Given the description of an element on the screen output the (x, y) to click on. 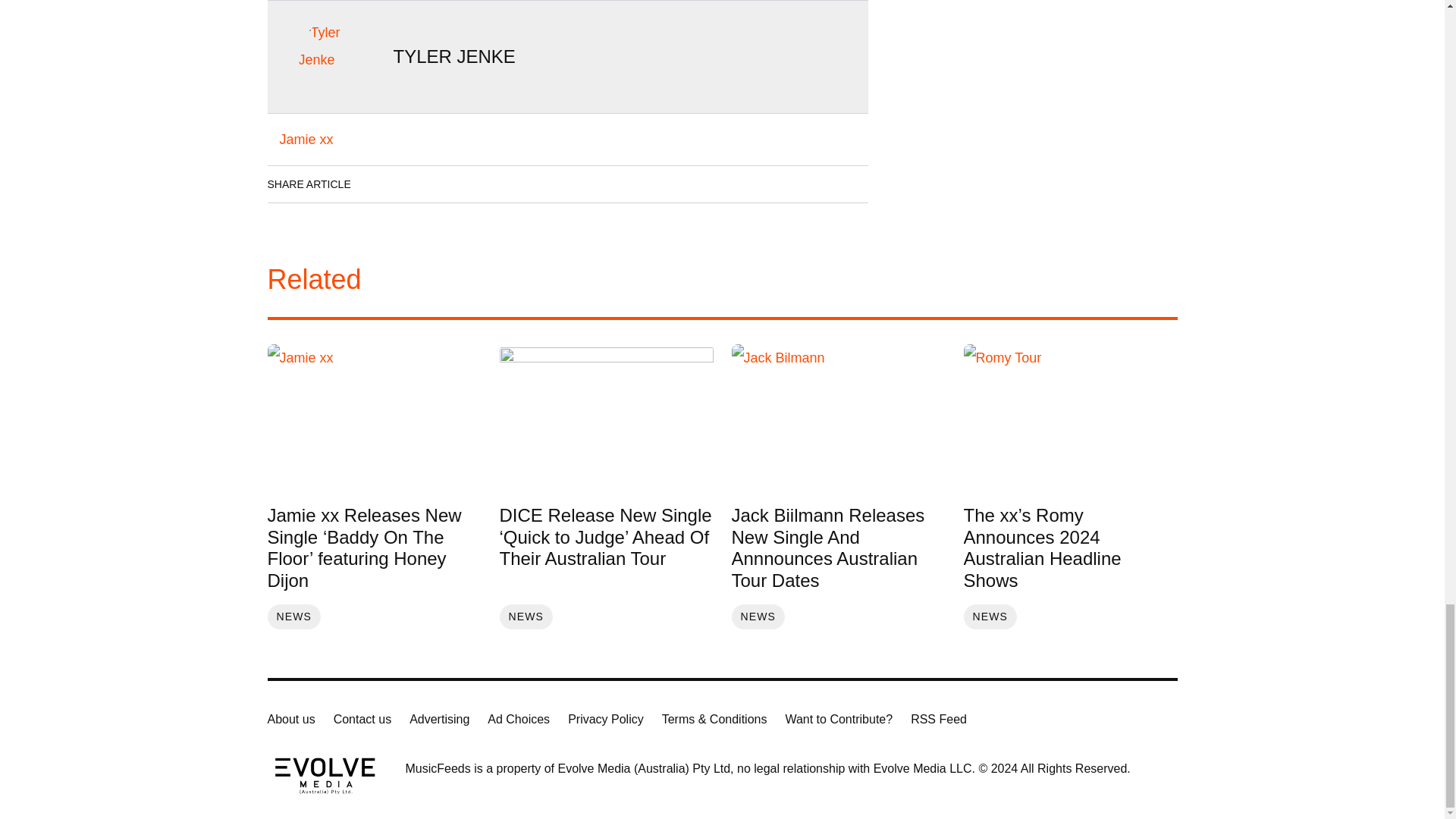
TYLER JENKE (454, 55)
